Given the description of an element on the screen output the (x, y) to click on. 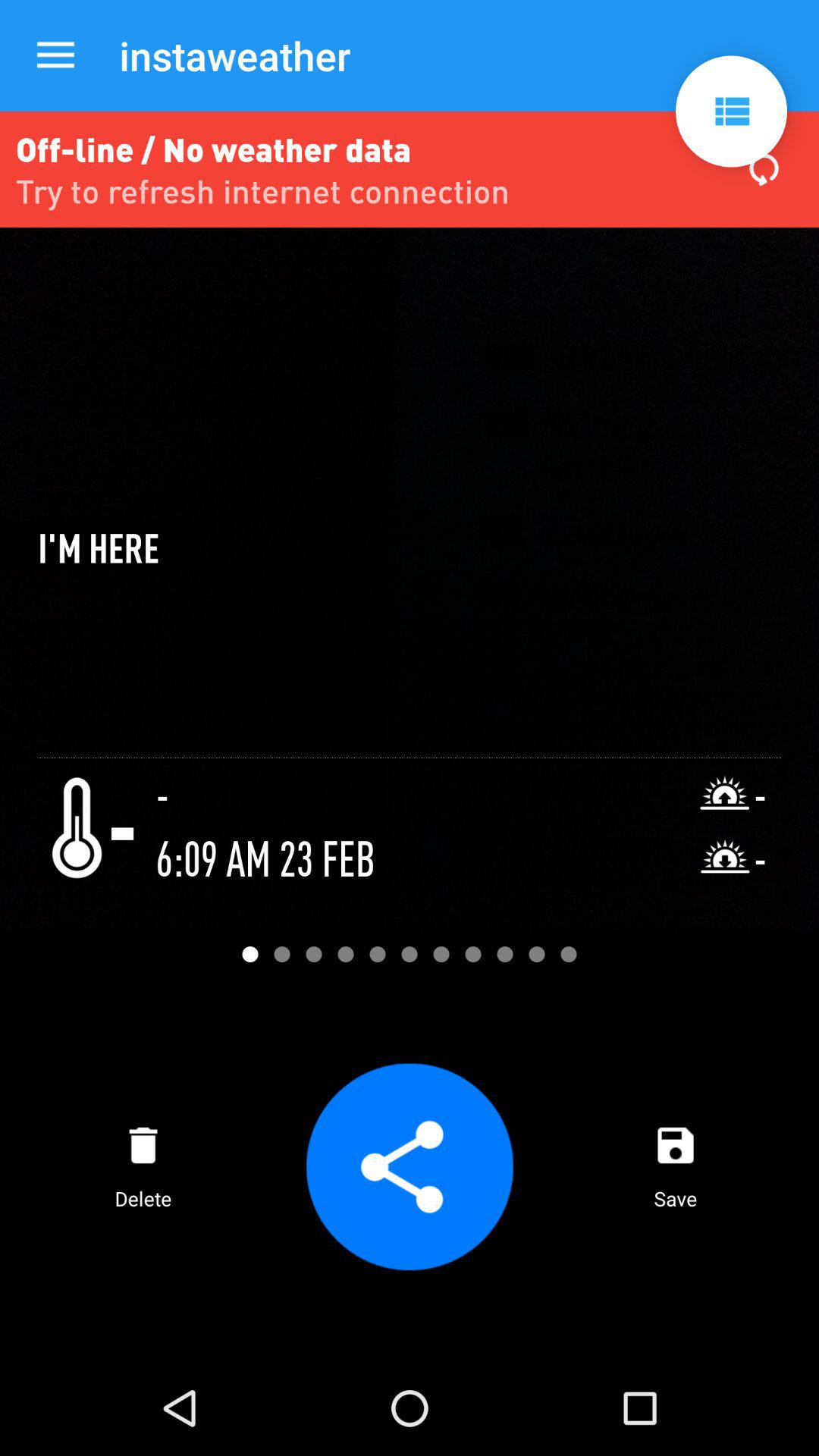
choose the delete item (143, 1166)
